Given the description of an element on the screen output the (x, y) to click on. 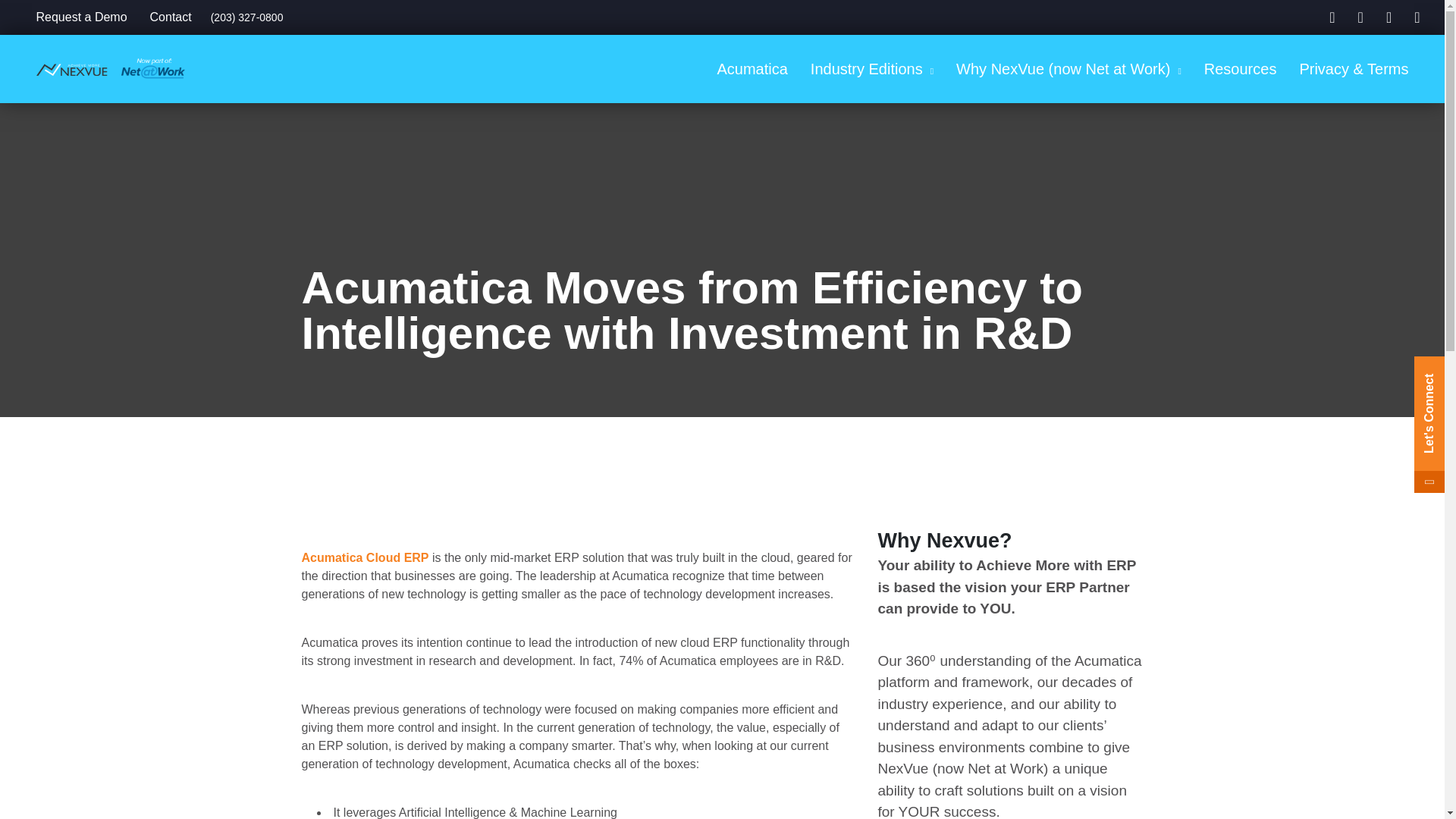
Industry Editions (871, 69)
Resources (1240, 69)
Acumatica (750, 69)
Request a Demo (81, 17)
Contact (170, 17)
